Given the description of an element on the screen output the (x, y) to click on. 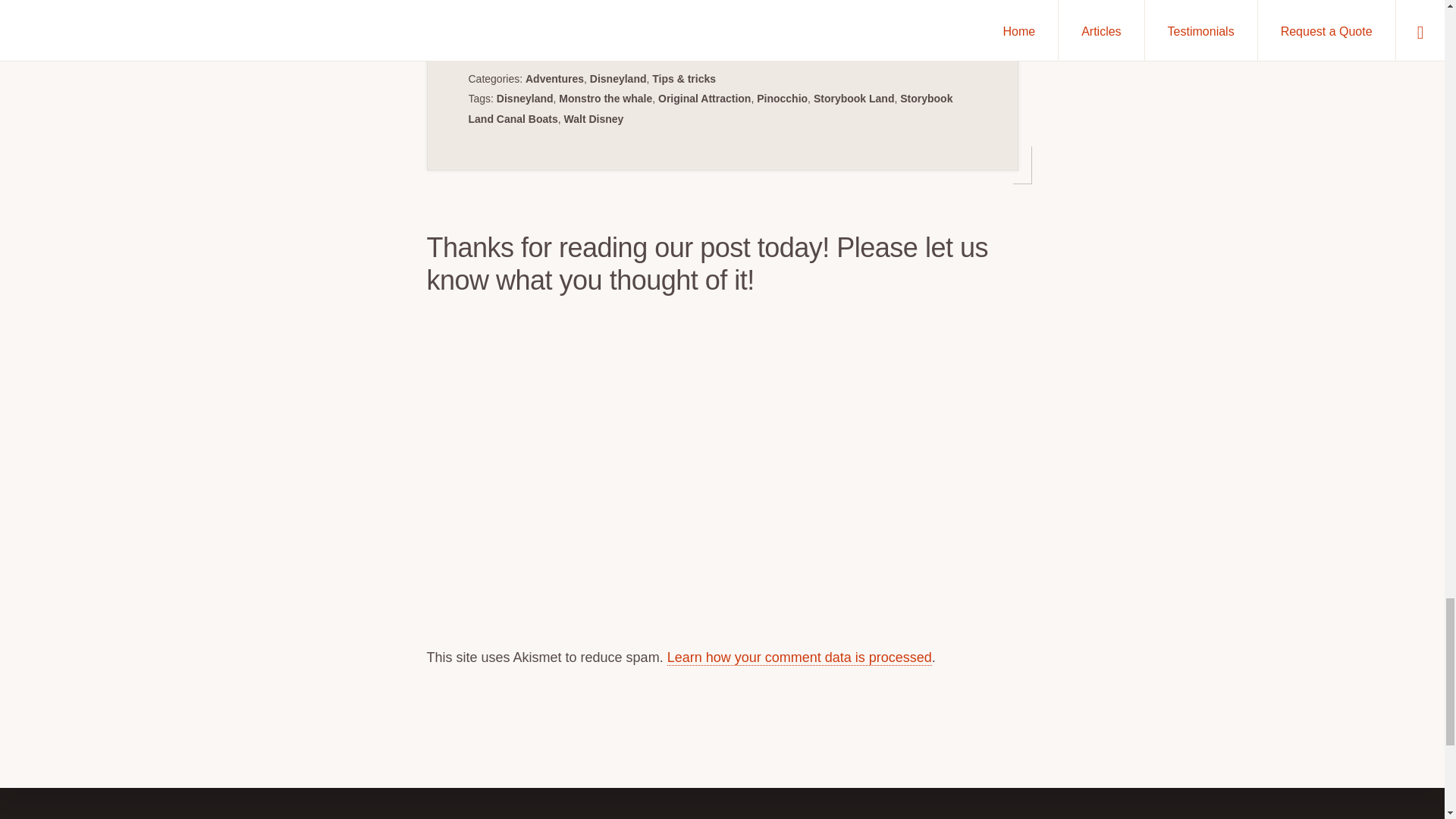
Storybook Land Canal Boats (710, 108)
Learn how your comment data is processed (798, 657)
No comments yet (729, 5)
Original Attraction (704, 98)
Disneyland (617, 78)
Walt Disney (594, 119)
Storybook Land (854, 98)
Mike Ellis (545, 5)
Monstro the whale (605, 98)
